Given the description of an element on the screen output the (x, y) to click on. 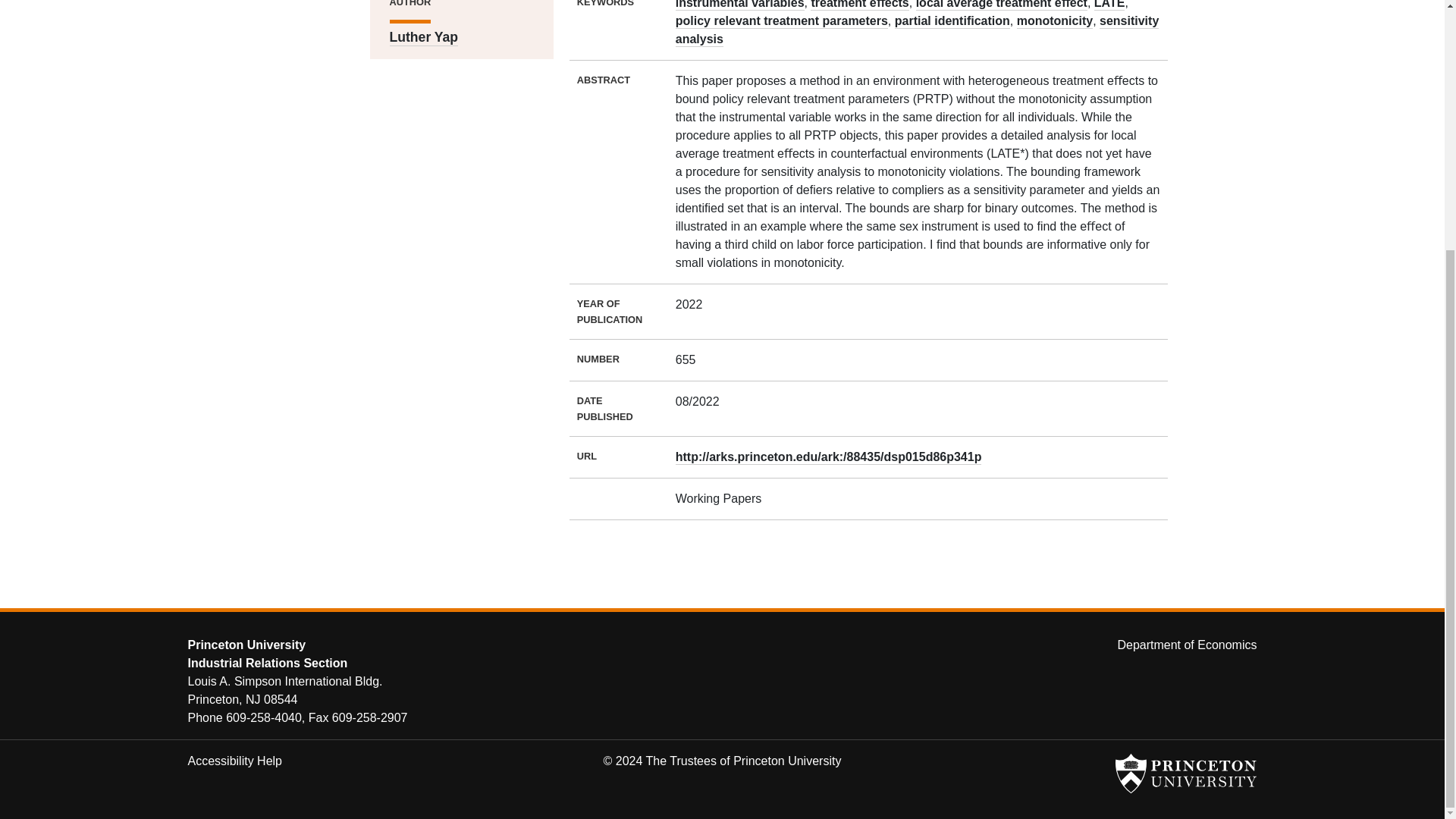
Princeton University (1185, 773)
